Given the description of an element on the screen output the (x, y) to click on. 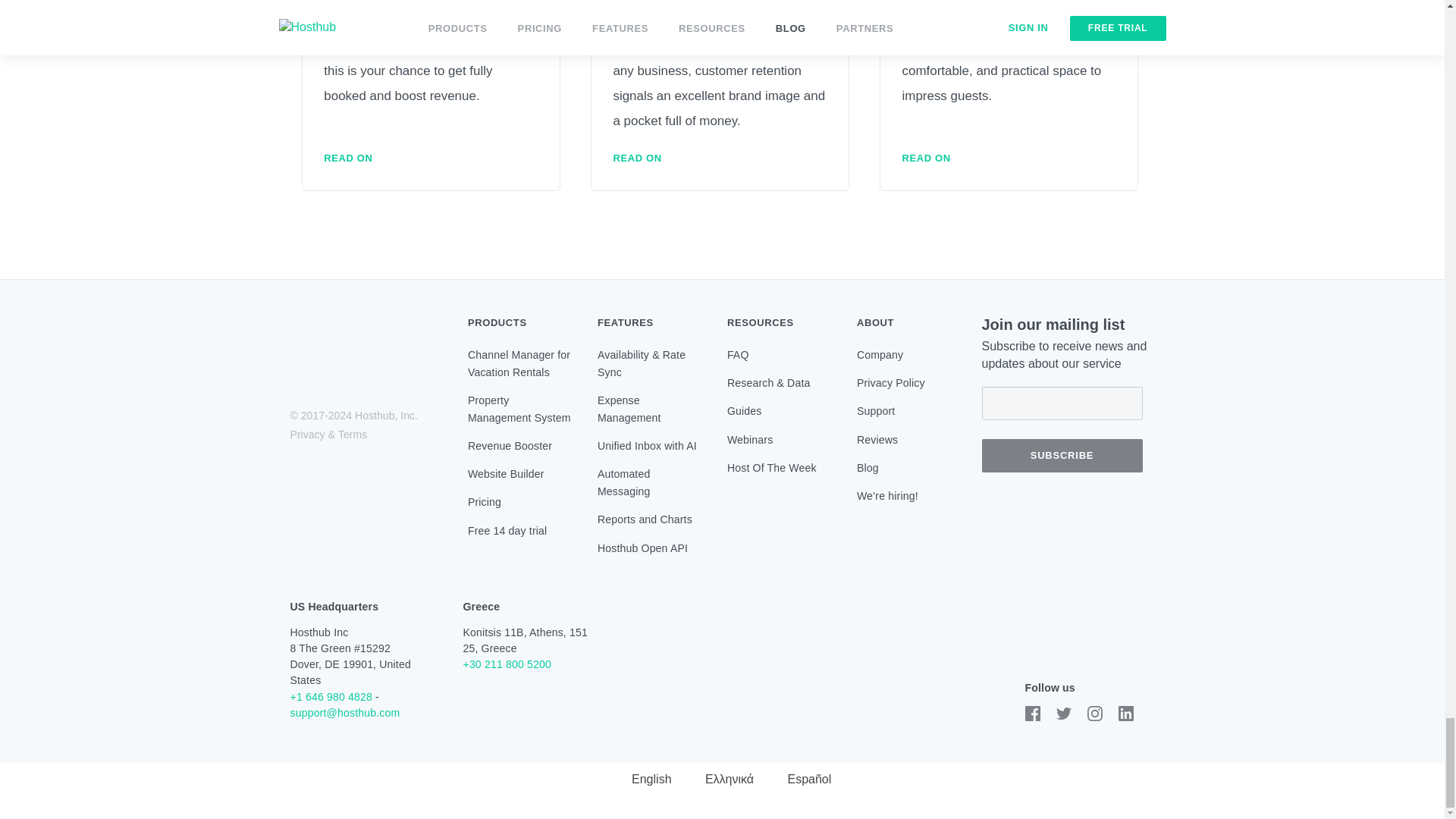
Subscribe (1061, 455)
